Given the description of an element on the screen output the (x, y) to click on. 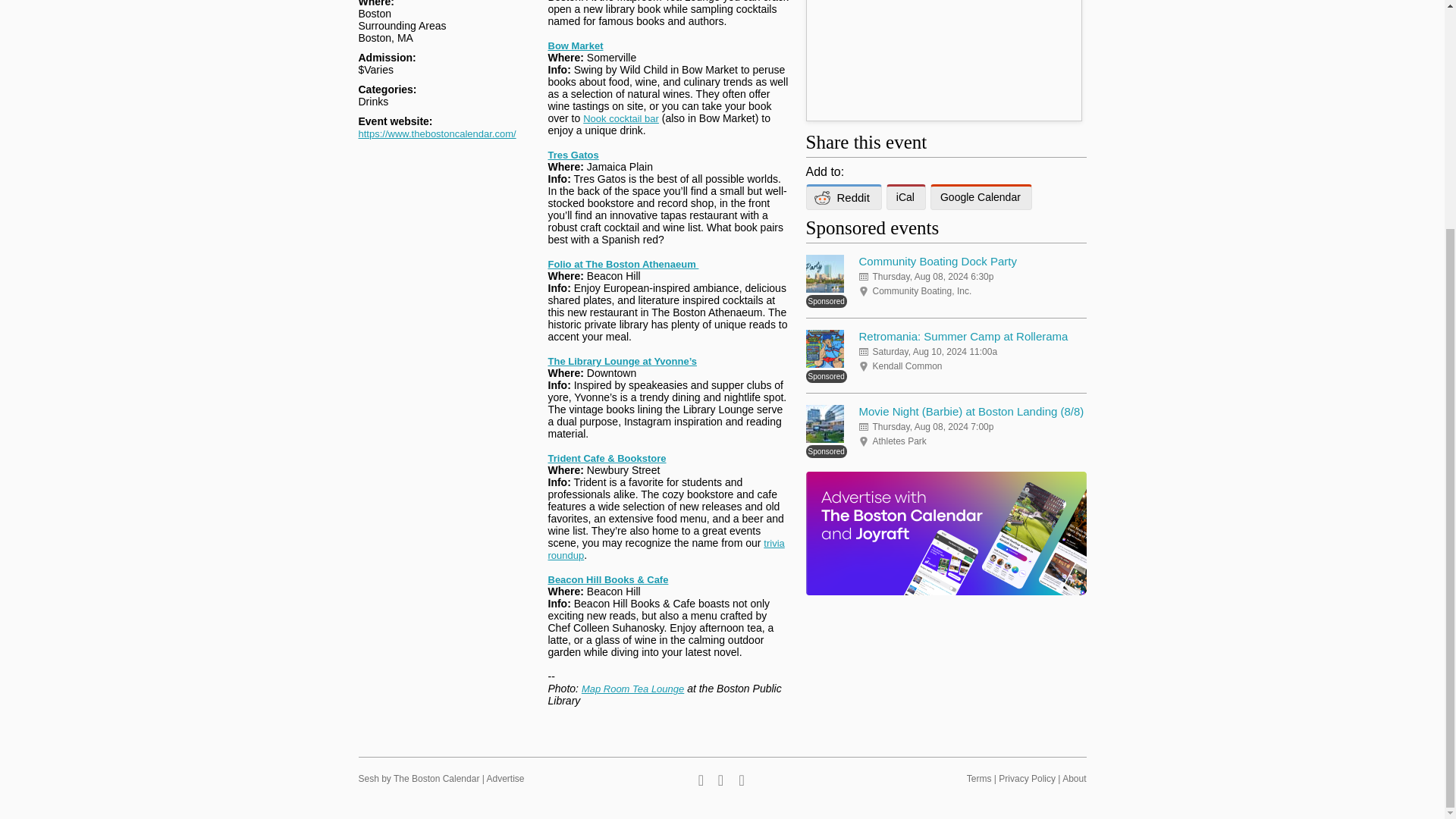
About (1074, 778)
Nook cocktail bar (621, 118)
Advertise (505, 778)
Community Boating Dock Party (937, 260)
Map Room Tea Lounge (632, 688)
Privacy Policy (1026, 778)
Bow Market (574, 45)
Tres Gatos (572, 154)
Sesh by The Boston Calendar (418, 778)
Reddit (842, 196)
